Given the description of an element on the screen output the (x, y) to click on. 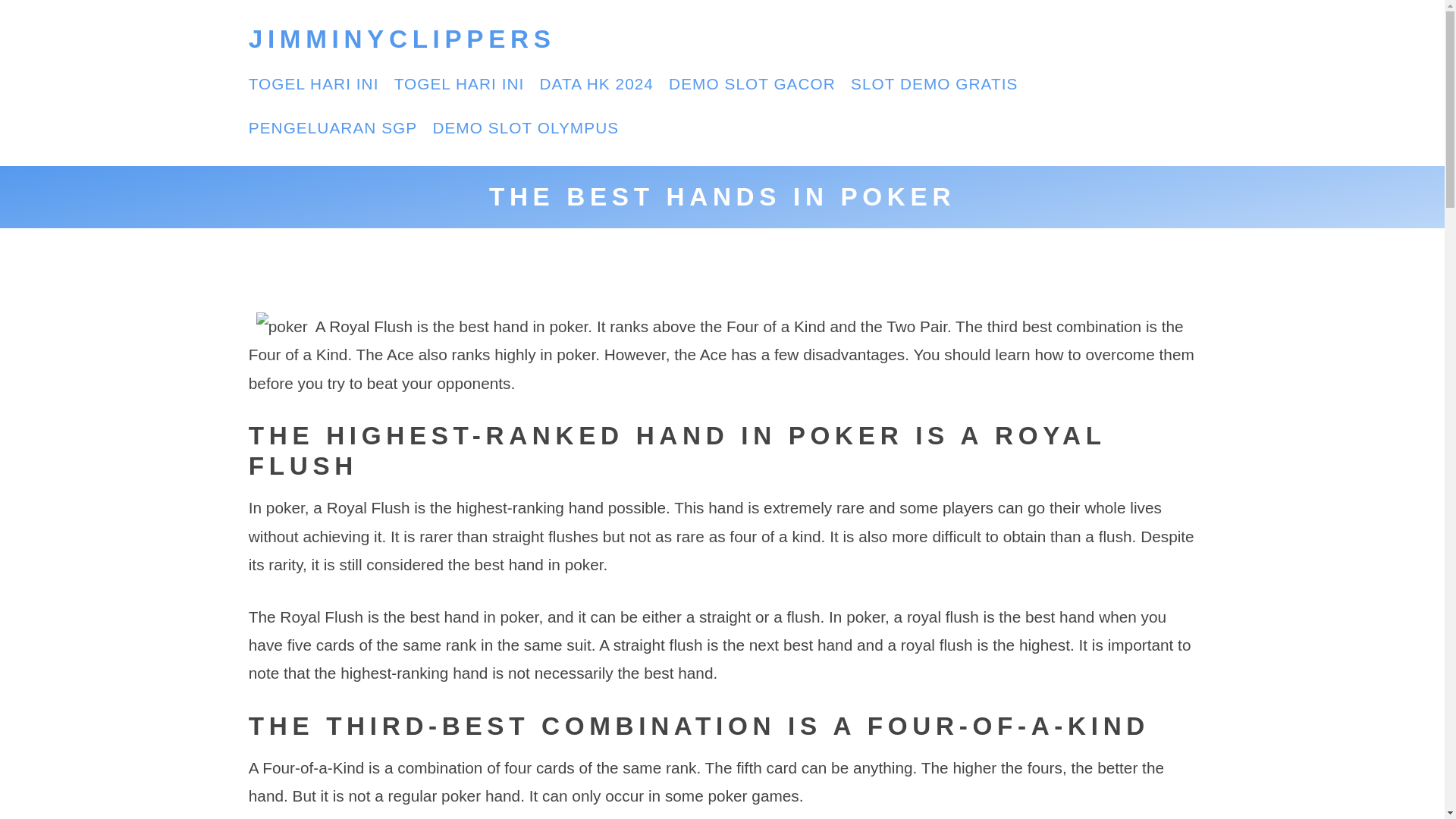
DEMO SLOT GACOR (751, 83)
PENGELUARAN SGP (332, 127)
DATA HK 2024 (596, 83)
DEMO SLOT OLYMPUS (525, 127)
SLOT DEMO GRATIS (933, 83)
TOGEL HARI INI (459, 83)
TOGEL HARI INI (313, 83)
JIMMINYCLIPPERS (402, 39)
